Given the description of an element on the screen output the (x, y) to click on. 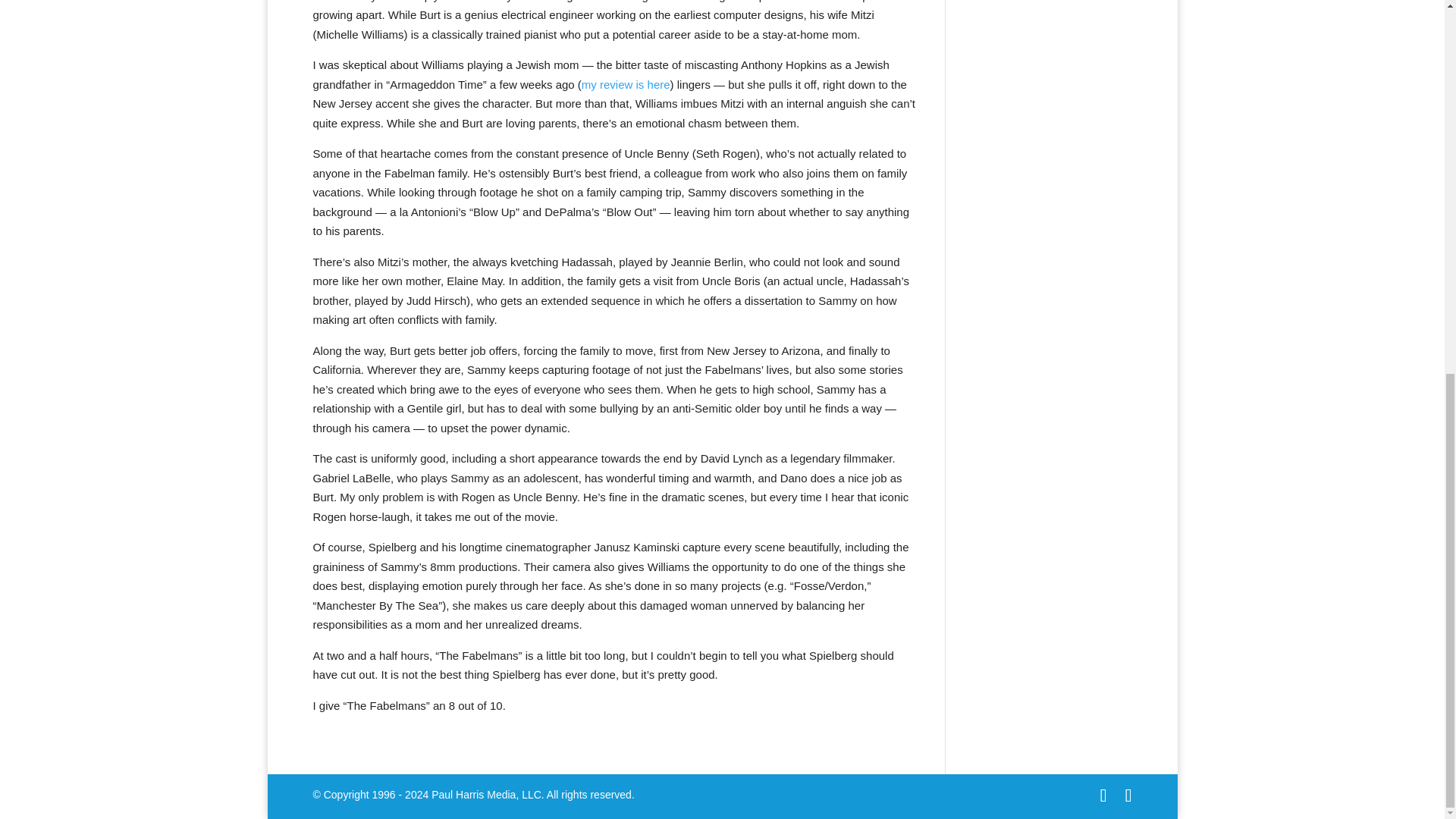
my review is here (624, 83)
